Given the description of an element on the screen output the (x, y) to click on. 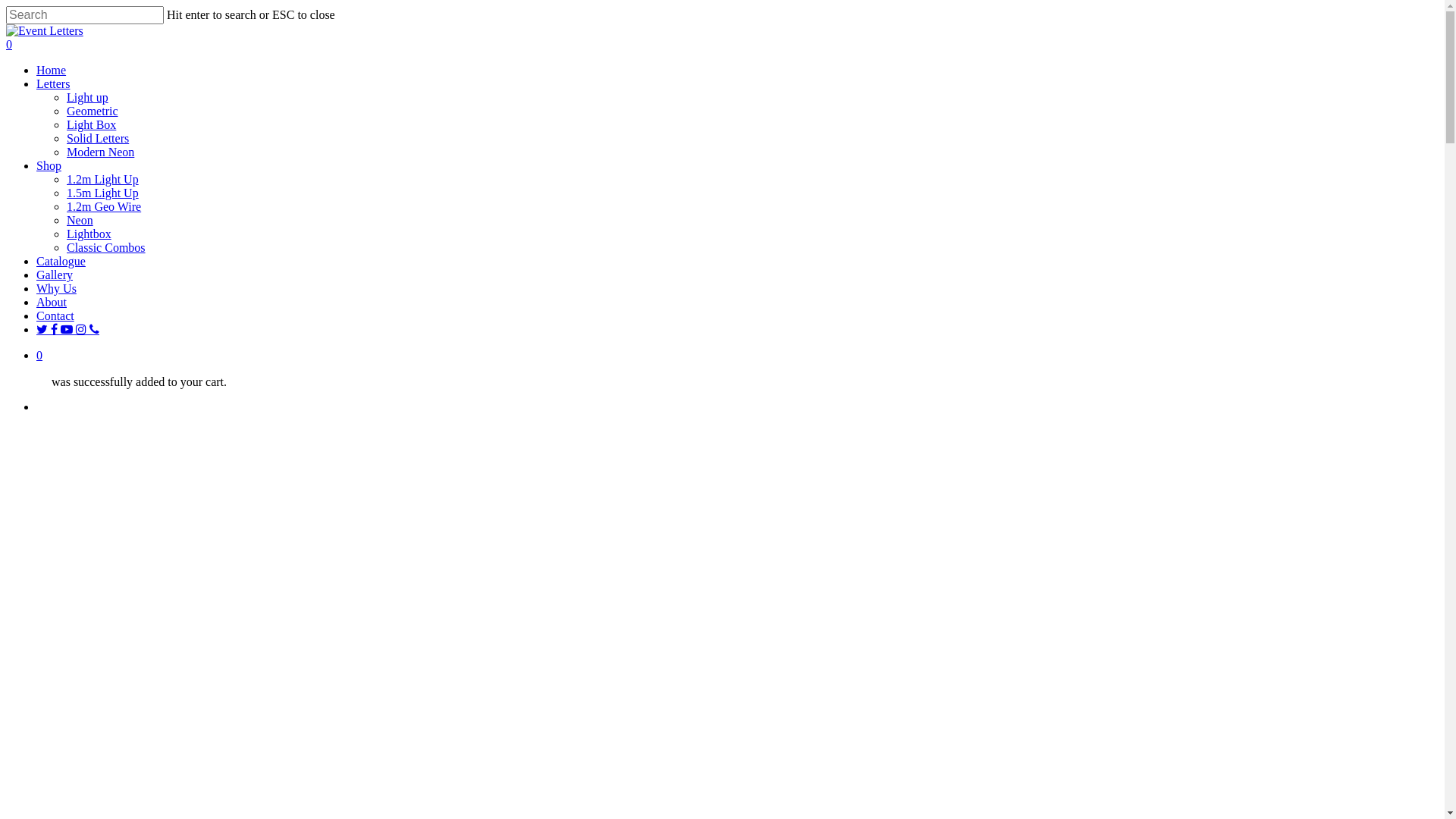
facebook Element type: text (55, 329)
Shop Element type: text (48, 165)
Modern Neon Element type: text (100, 151)
Classic Combos Element type: text (105, 247)
Light Box Element type: text (91, 124)
instagram Element type: text (82, 329)
1.2m Light Up Element type: text (102, 178)
Geometric Element type: text (92, 110)
Why Us Element type: text (56, 288)
0 Element type: text (737, 355)
Home Element type: text (50, 69)
phone Element type: text (94, 329)
1.5m Light Up Element type: text (102, 192)
Neon Element type: text (79, 219)
Solid Letters Element type: text (97, 137)
youtube Element type: text (67, 329)
Letters Element type: text (52, 83)
1.2m Geo Wire Element type: text (103, 206)
Contact Element type: text (55, 315)
Catalogue Element type: text (60, 260)
twitter Element type: text (43, 329)
Skip to main content Element type: text (5, 5)
Light up Element type: text (87, 97)
Gallery Element type: text (54, 274)
0 Element type: text (722, 44)
Lightbox Element type: text (88, 233)
About Element type: text (51, 301)
